Given the description of an element on the screen output the (x, y) to click on. 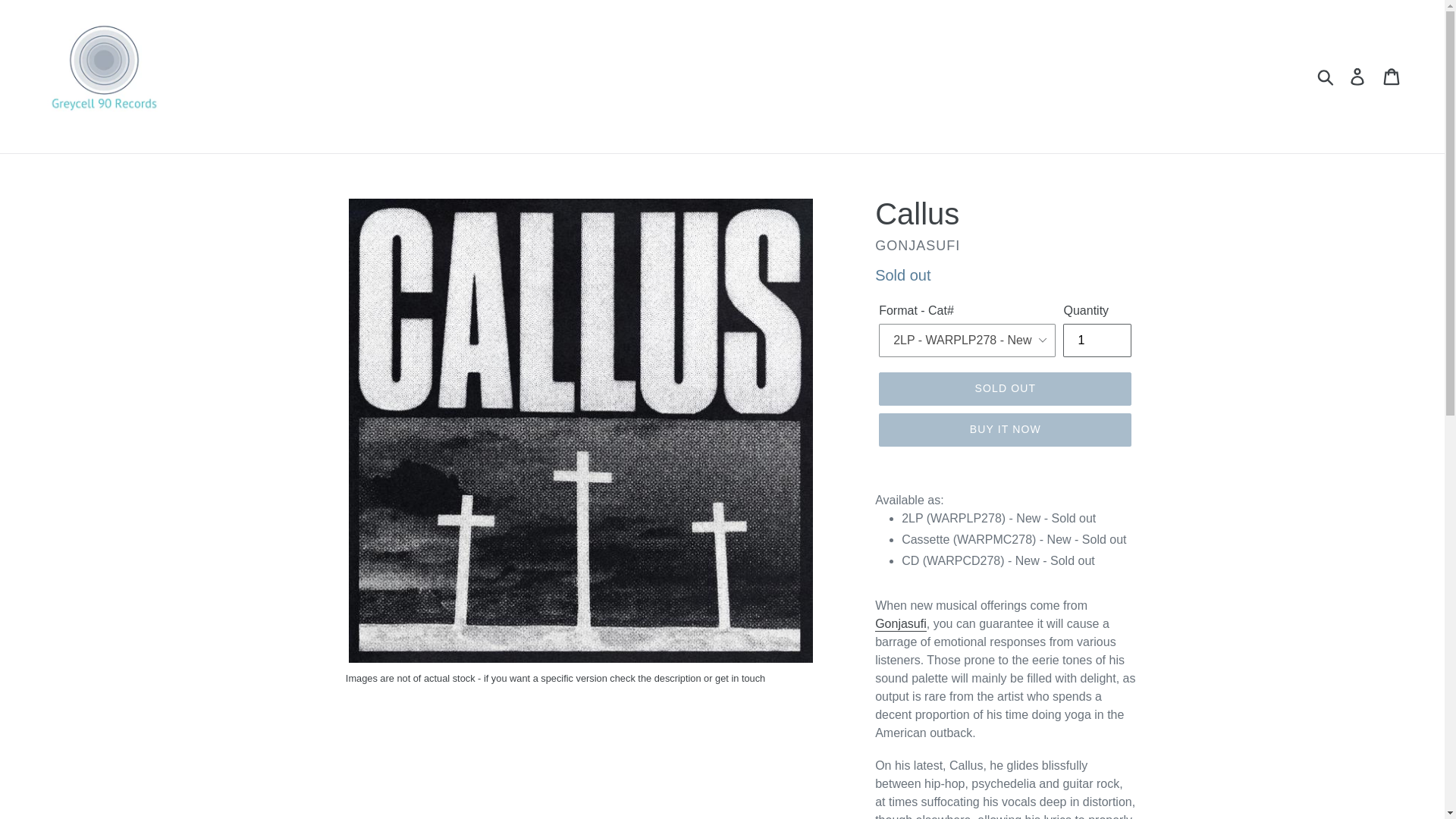
Log in (1357, 76)
Cart (1392, 76)
Submit (1326, 76)
1 (1096, 340)
SOLD OUT (1005, 388)
Gonjasufi (900, 624)
Gonjasufi (900, 624)
BUY IT NOW (1005, 429)
